Given the description of an element on the screen output the (x, y) to click on. 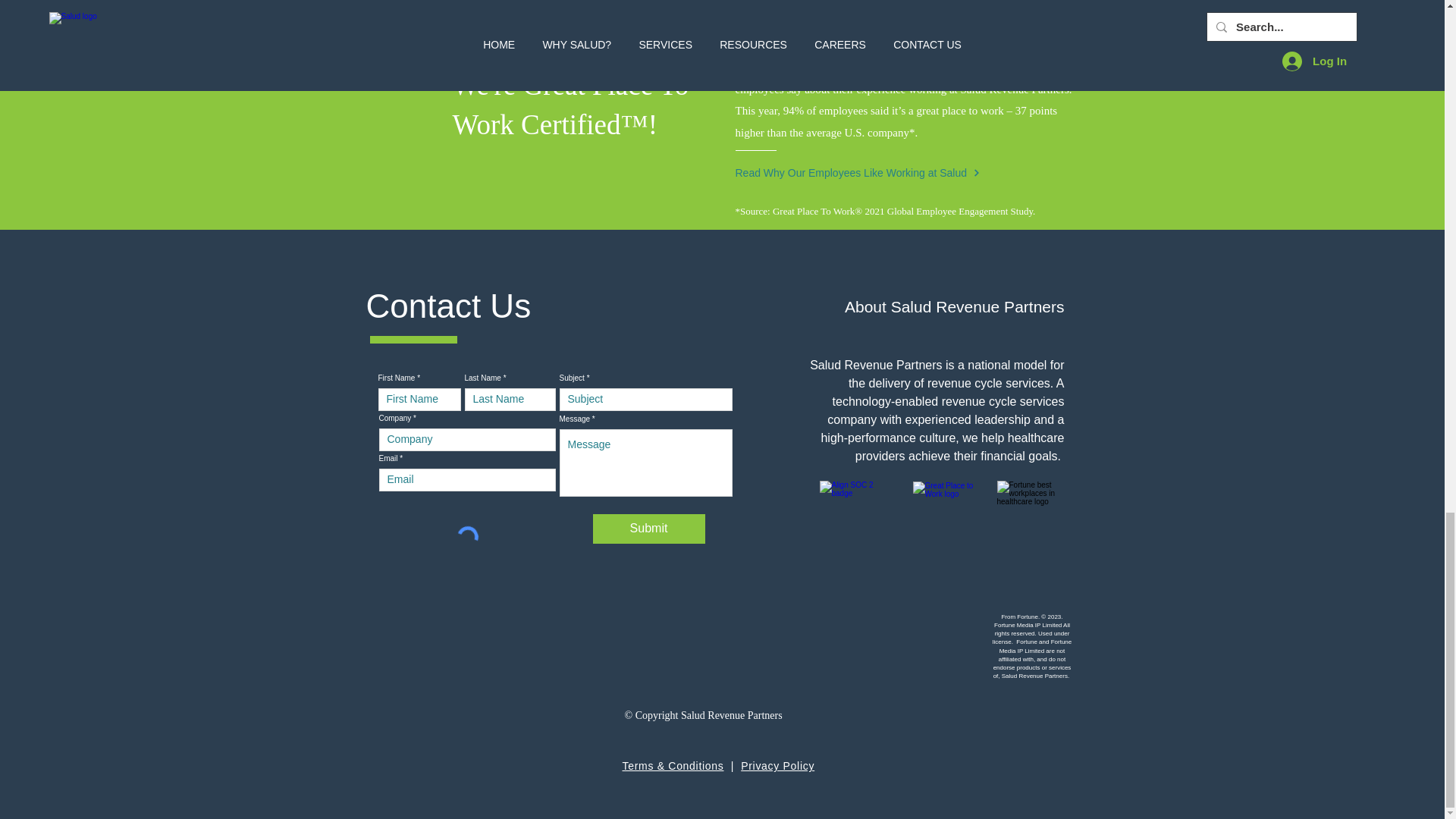
Read Why Our Employees Like Working at Salud (867, 172)
Salud Revenue Partners (789, 45)
Privacy Policy (777, 766)
Submit (648, 528)
